Given the description of an element on the screen output the (x, y) to click on. 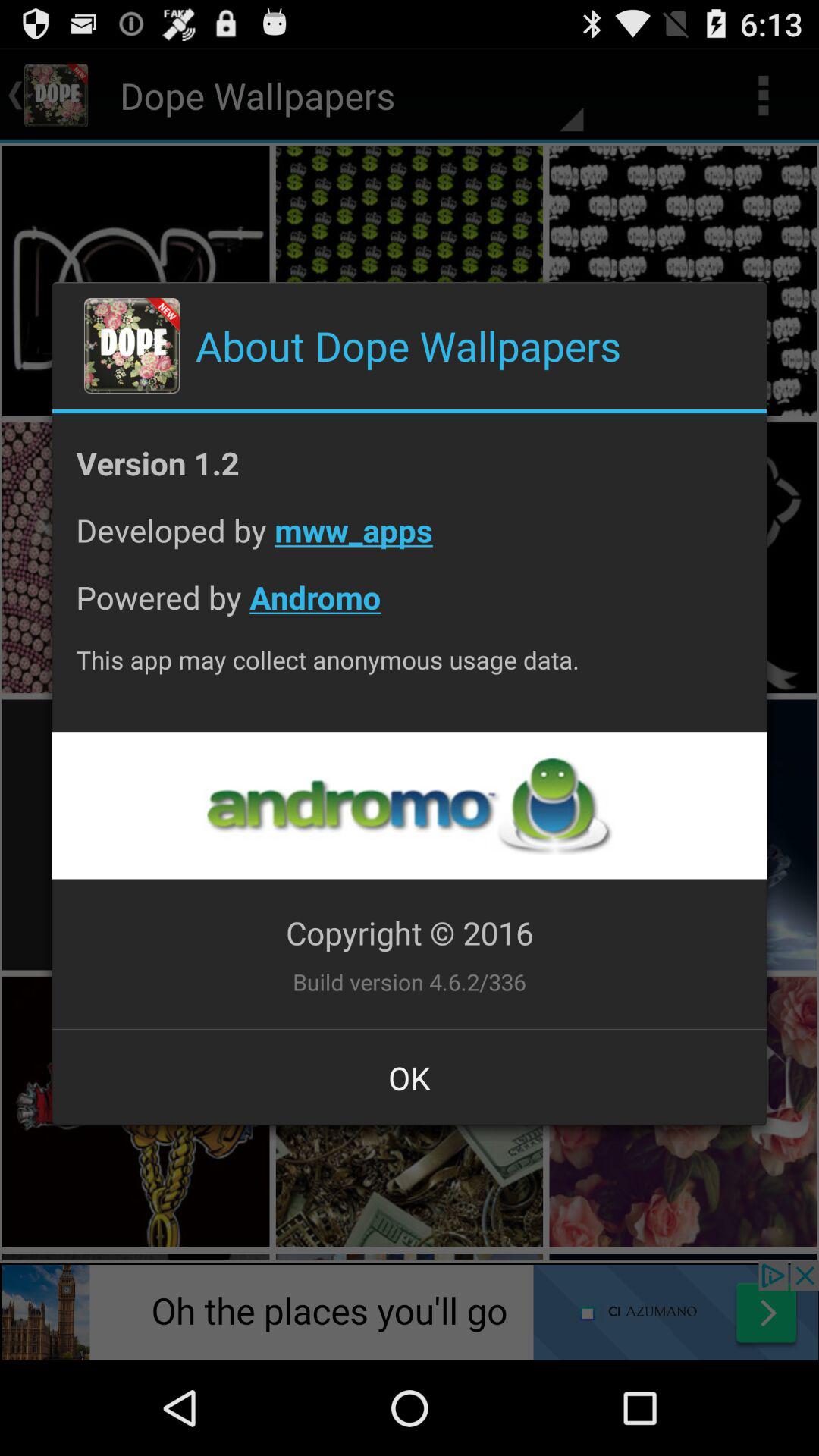
turn on the app above powered by andromo icon (409, 541)
